Given the description of an element on the screen output the (x, y) to click on. 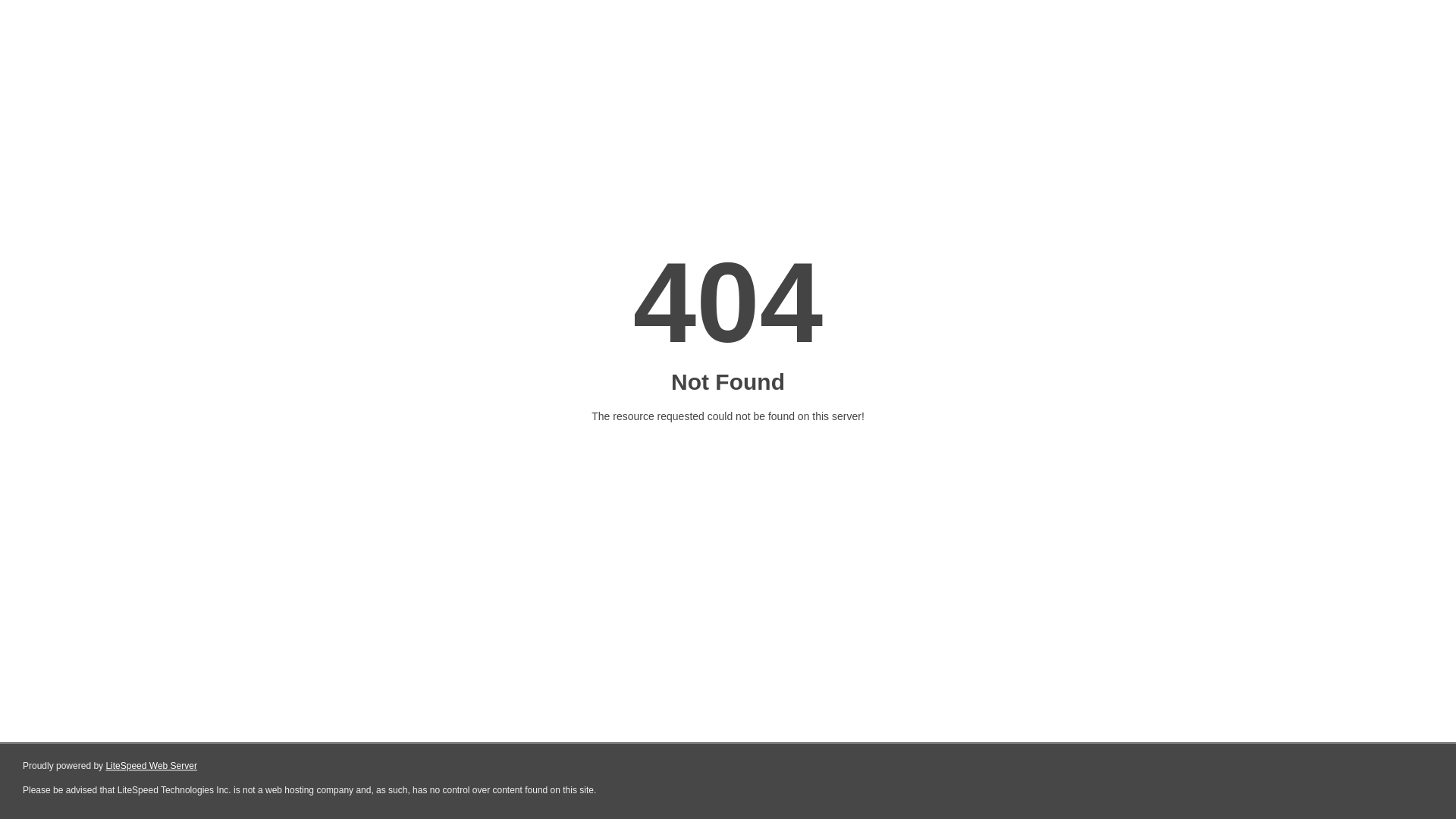
LiteSpeed Web Server Element type: text (151, 765)
